Given the description of an element on the screen output the (x, y) to click on. 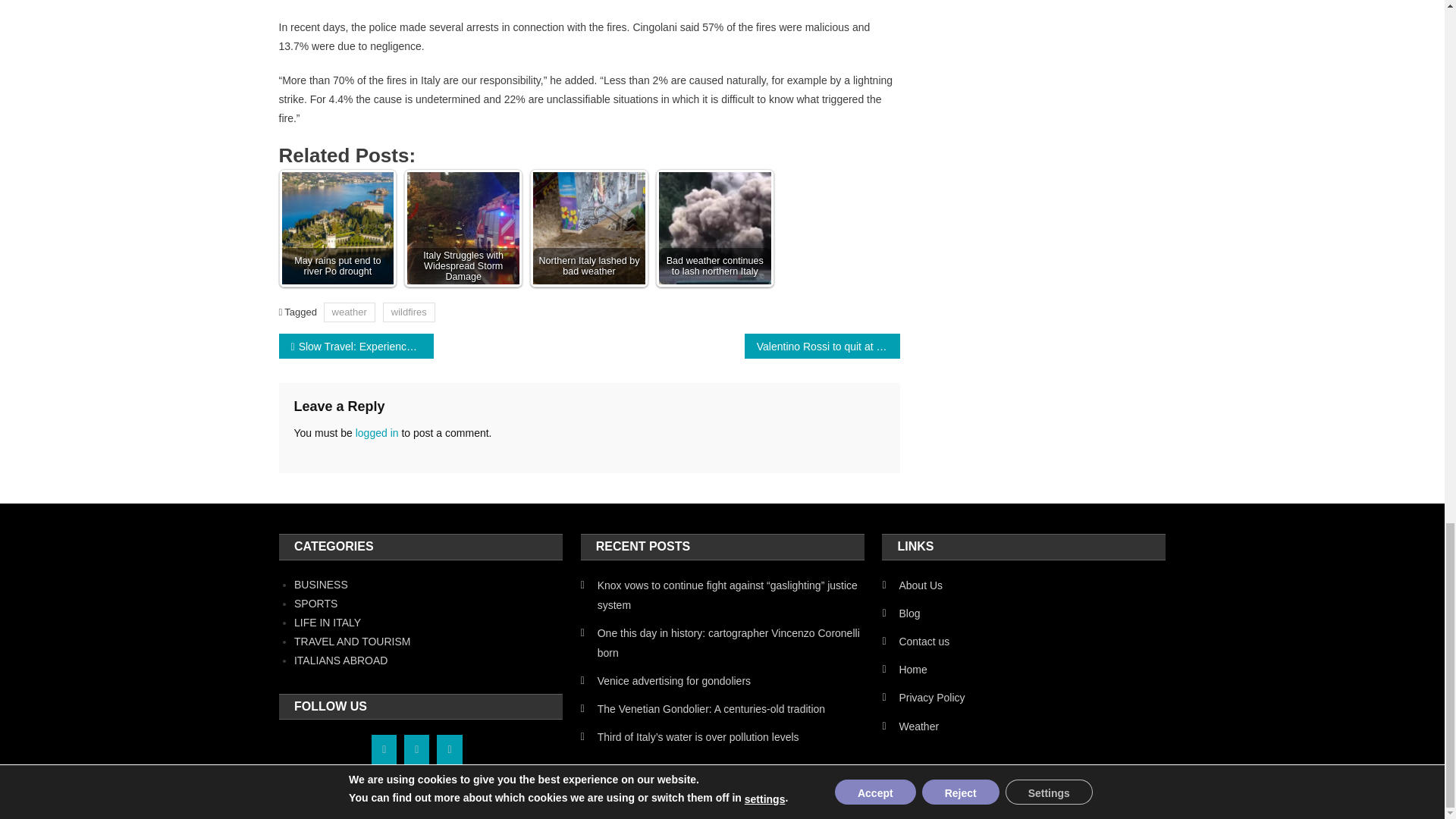
Italy Struggles with Widespread Storm Damage (463, 227)
May rains put end to river Po drought (337, 227)
Northern Italy lashed by bad weather (588, 227)
May rains put end to river Po drought (338, 227)
Italy Struggles with Widespread Storm Damage (462, 227)
Bad weather continues to lash northern Italy (715, 227)
